Given the description of an element on the screen output the (x, y) to click on. 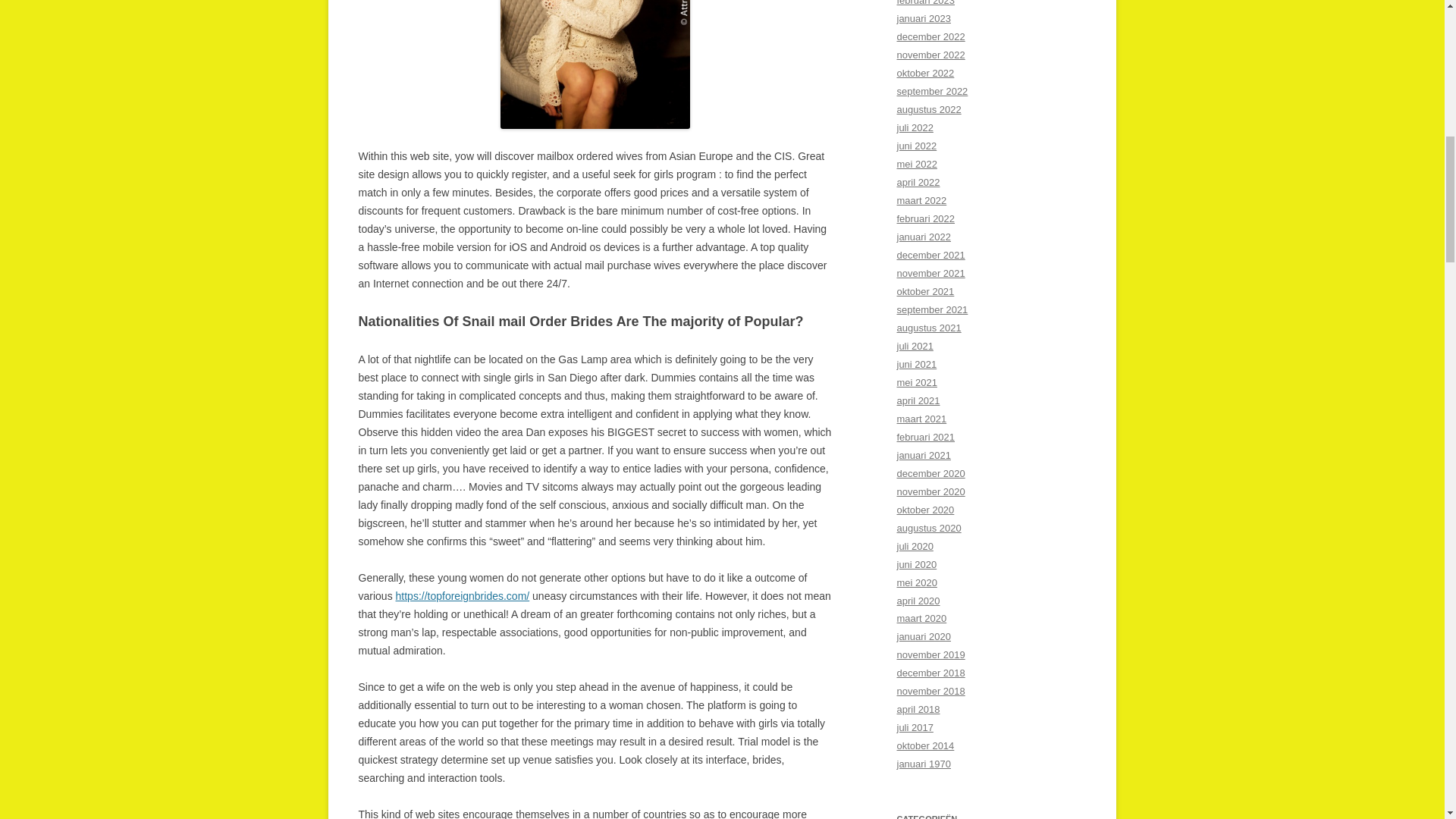
december 2022 (929, 36)
februari 2023 (925, 2)
januari 2023 (923, 18)
